Given the description of an element on the screen output the (x, y) to click on. 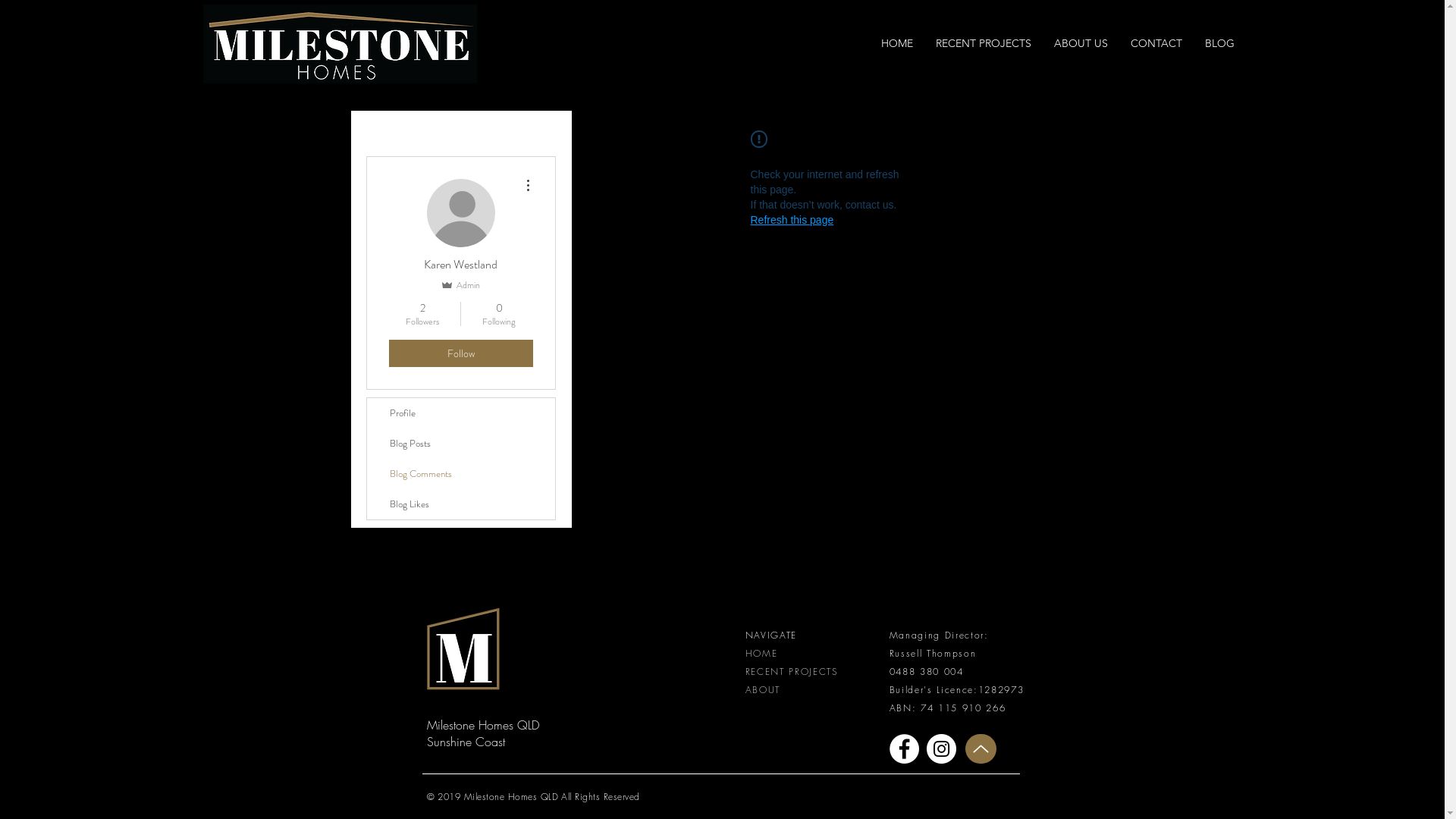
2
Followers Element type: text (421, 313)
Refresh this page Element type: text (792, 219)
HOME Element type: text (760, 651)
Follow Element type: text (460, 353)
RECENT PROJECTS Element type: text (790, 671)
ABOUT Element type: text (761, 689)
Profile Element type: text (461, 413)
HOME Element type: text (896, 43)
ABOUT US Element type: text (1079, 43)
Blog Comments Element type: text (461, 473)
Blog Likes Element type: text (461, 504)
BLOG Element type: text (1219, 43)
Blog Posts Element type: text (461, 443)
RECENT PROJECTS Element type: text (982, 43)
0
Following Element type: text (499, 313)
CONTACT Element type: text (1156, 43)
0488 380 004 Element type: text (925, 671)
